Given the description of an element on the screen output the (x, y) to click on. 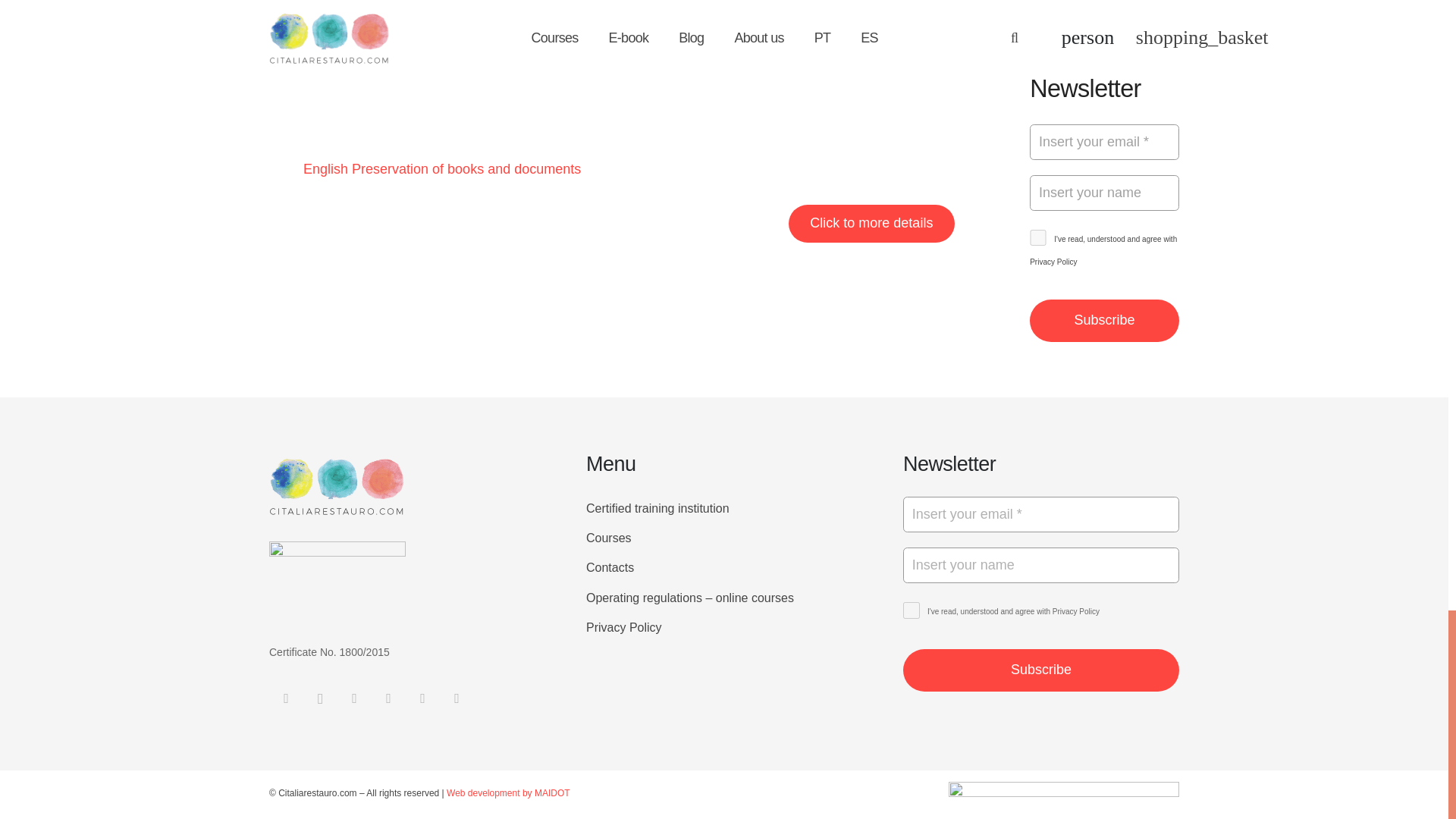
Subscribe (1040, 670)
YouTube (388, 698)
on (911, 610)
Web development (508, 792)
Instagram (319, 698)
Facebook (285, 698)
Twitter (456, 698)
Pinterest (422, 698)
LinkedIn (354, 698)
